Given the description of an element on the screen output the (x, y) to click on. 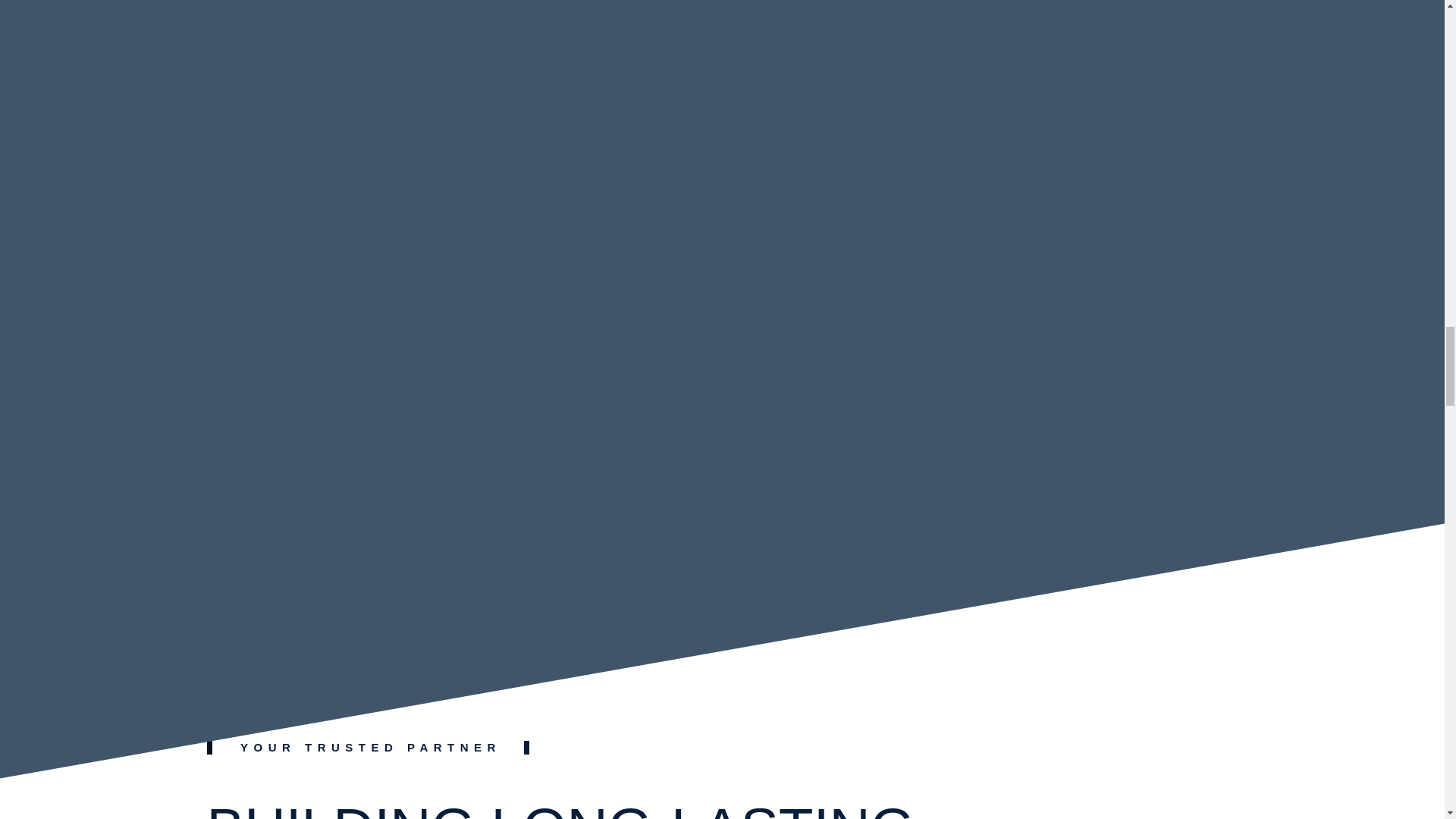
VIEW SERVICES (317, 484)
